Given the description of an element on the screen output the (x, y) to click on. 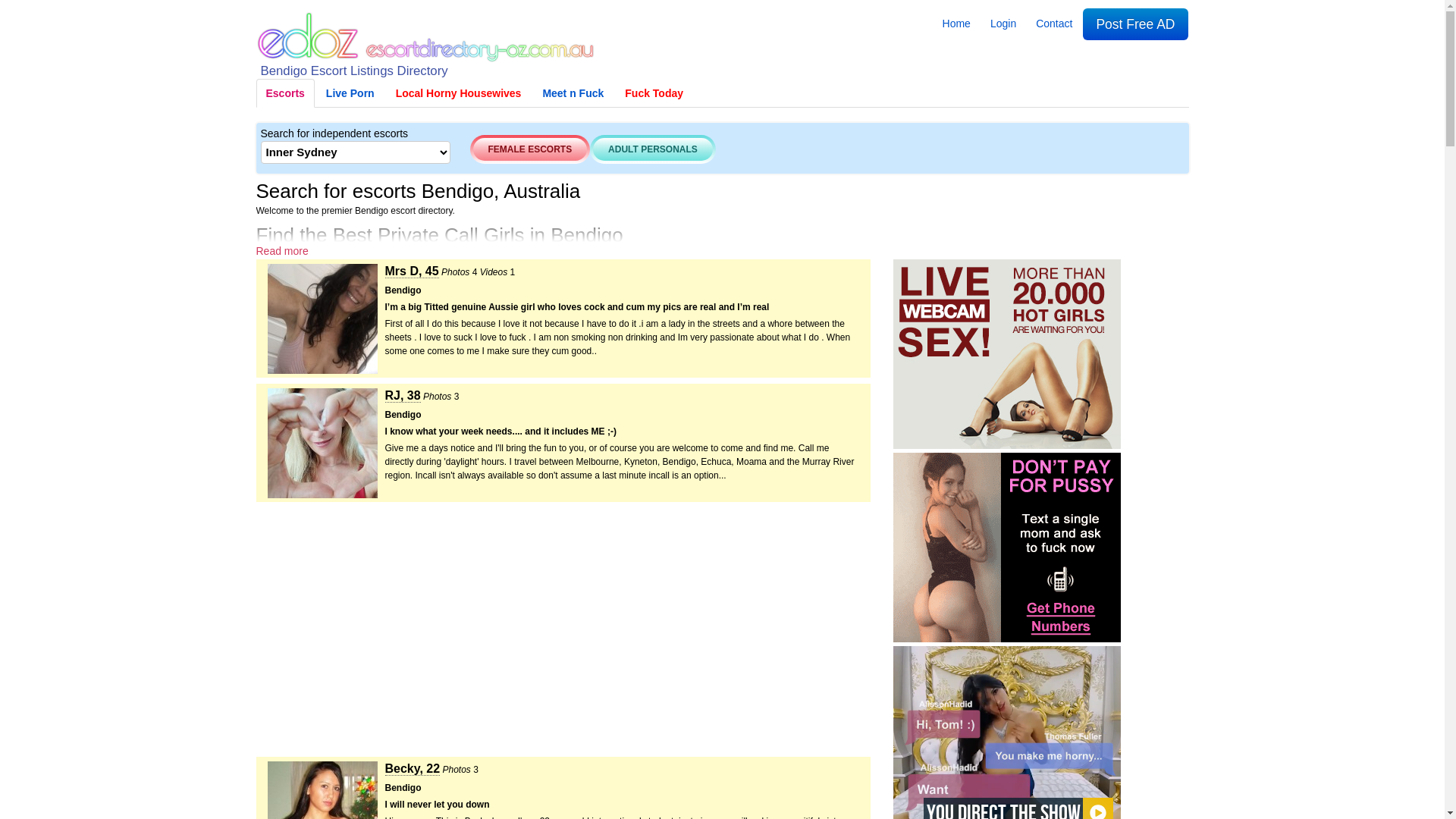
RJ, 38 Element type: text (402, 396)
Meet n Fuck Element type: text (572, 92)
Mrs D Escort in Bendigo Element type: hover (321, 320)
Live Porn Element type: text (350, 92)
Post Free AD Element type: text (1134, 24)
RJ Escort in Bendigo Element type: hover (321, 445)
Becky, 22 Element type: text (412, 769)
Escorts Element type: text (285, 92)
Ad Element type: hover (1006, 353)
Local Horny Housewives Element type: text (458, 92)
ADULT PERSONALS Element type: text (652, 149)
Fuck Today Element type: text (654, 92)
FEMALE ESCORTS Element type: text (530, 149)
Ad Element type: hover (1006, 547)
Mrs D, 45 Element type: text (412, 271)
Home Element type: text (956, 23)
Login Element type: text (1003, 23)
Contact Element type: text (1053, 23)
